Given the description of an element on the screen output the (x, y) to click on. 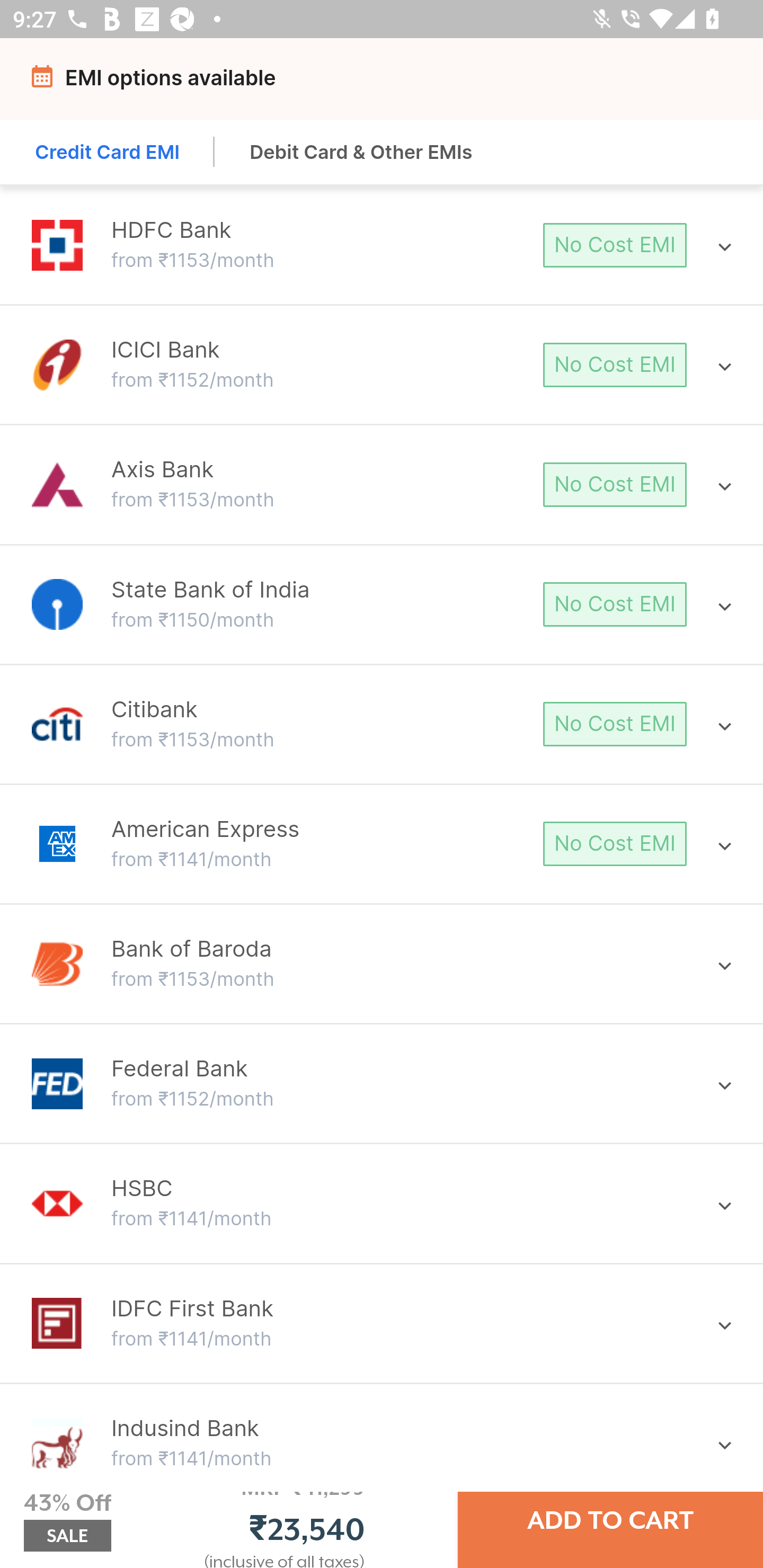
Credit Card EMI (107, 152)
Debit Card & Other EMIs (361, 152)
HDFC Bank HDFC Bank from ₹1153/month No Cost EMI (381, 244)
ICICI Bank ICICI Bank from ₹1152/month No Cost EMI (381, 364)
Axis Bank Axis Bank from ₹1153/month No Cost EMI (381, 484)
Citibank Citibank from ₹1153/month No Cost EMI (381, 723)
Bank of Baroda Bank of Baroda from ₹1153/month (381, 963)
Federal Bank Federal Bank from ₹1152/month (381, 1083)
HSBC HSBC from ₹1141/month (381, 1203)
IDFC First Bank IDFC First Bank from ₹1141/month (381, 1322)
Indusind Bank Indusind Bank from ₹1141/month (381, 1443)
ADD TO CART (610, 1520)
